Given the description of an element on the screen output the (x, y) to click on. 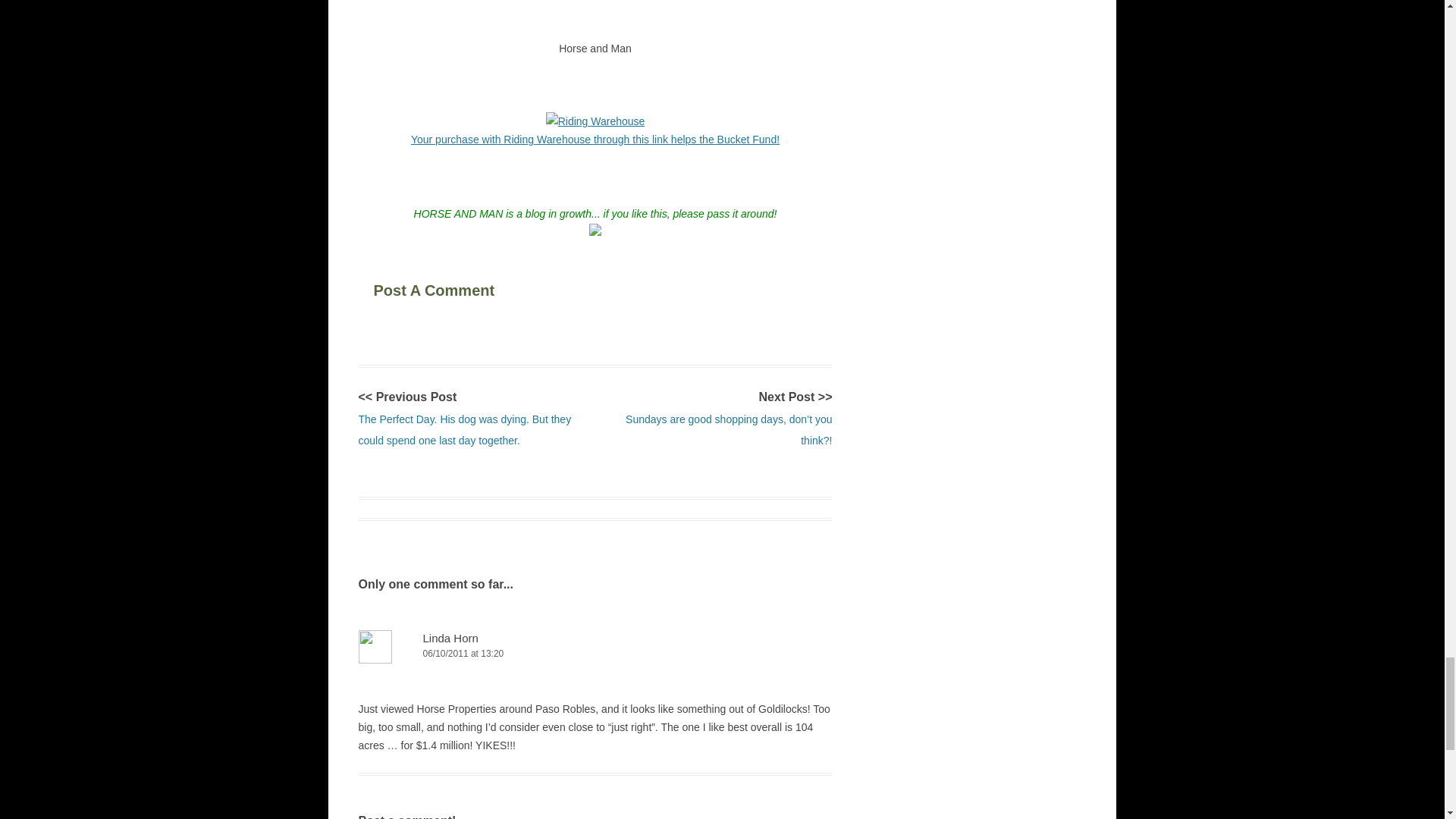
Post A Comment (465, 287)
